Given the description of an element on the screen output the (x, y) to click on. 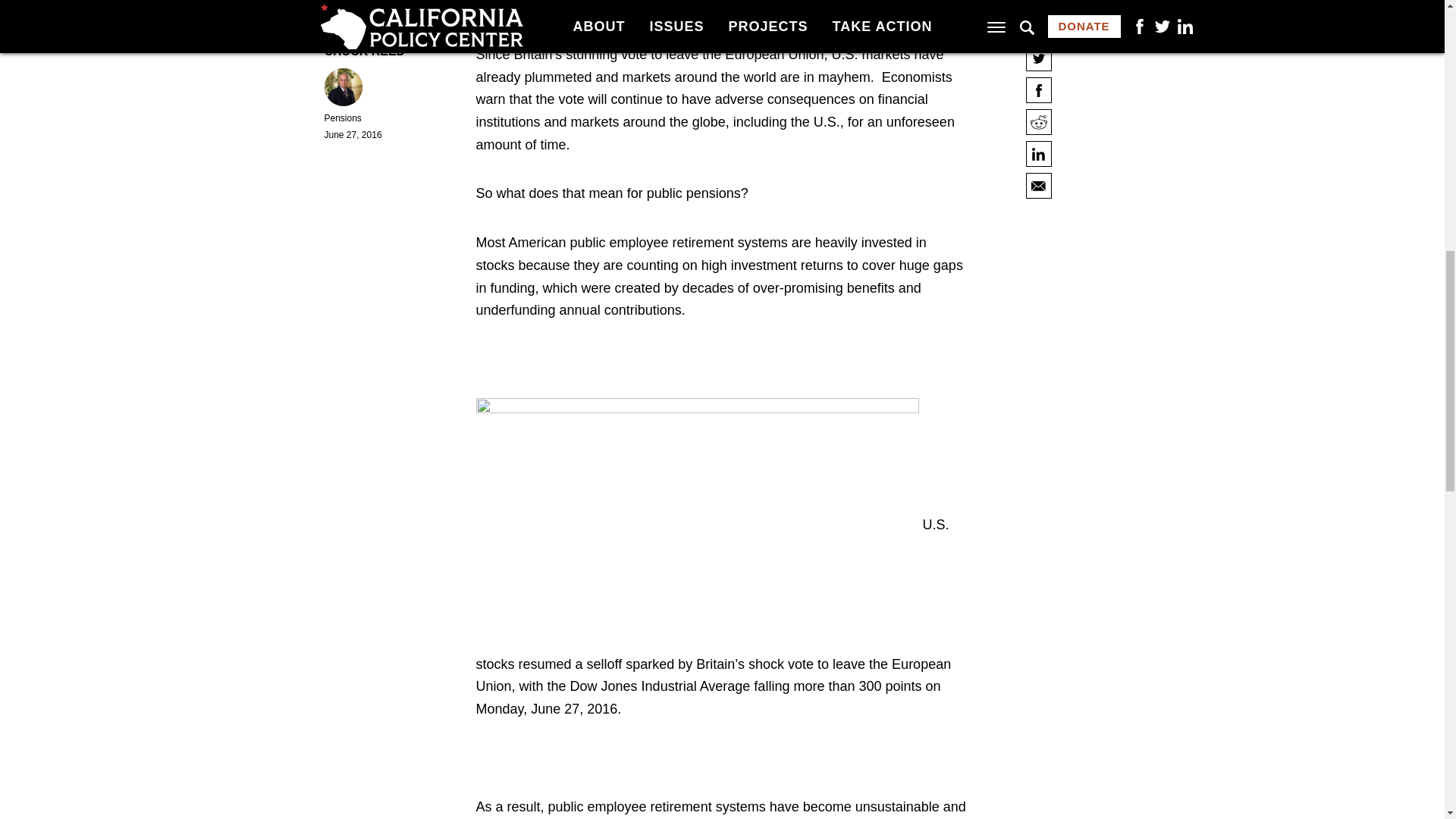
Meet the Team (619, 337)
Newsletter Signup (628, 376)
ABOUT (612, 316)
ISSUES (614, 410)
Contact (600, 357)
Education Reform (628, 431)
